Given the description of an element on the screen output the (x, y) to click on. 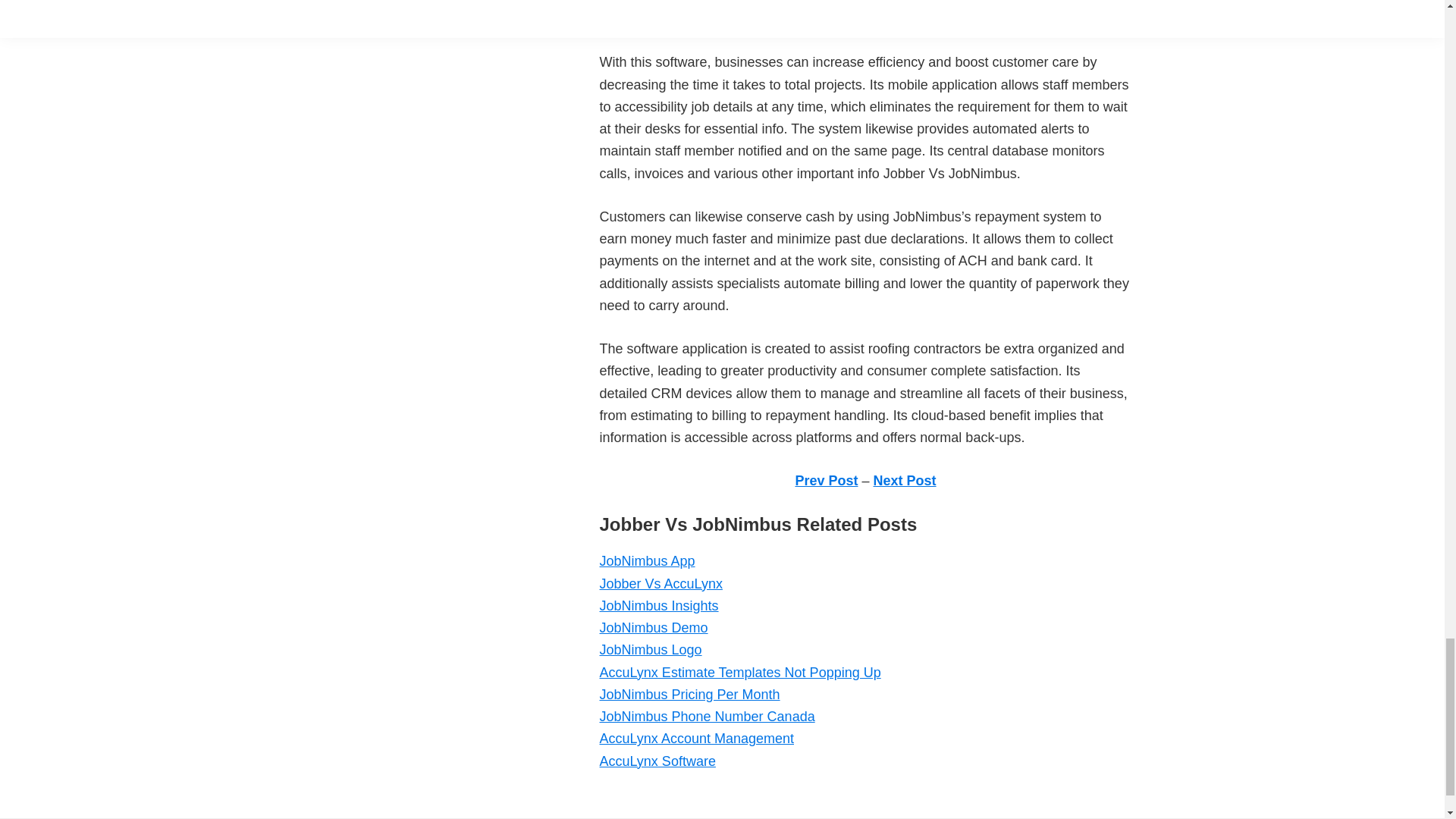
Jobber Vs AccuLynx (660, 583)
AccuLynx Account Management (695, 738)
JobNimbus Logo (649, 649)
JobNimbus Phone Number Canada (705, 716)
JobNimbus Logo (649, 649)
JobNimbus Phone Number Canada (705, 716)
JobNimbus Pricing Per Month (688, 694)
JobNimbus Demo (652, 627)
JobNimbus Pricing Per Month (688, 694)
JobNimbus Demo (652, 627)
AccuLynx Account Management (695, 738)
JobNimbus App (646, 560)
Next Post (904, 480)
JobNimbus App (646, 560)
AccuLynx Estimate Templates Not Popping Up (739, 672)
